Given the description of an element on the screen output the (x, y) to click on. 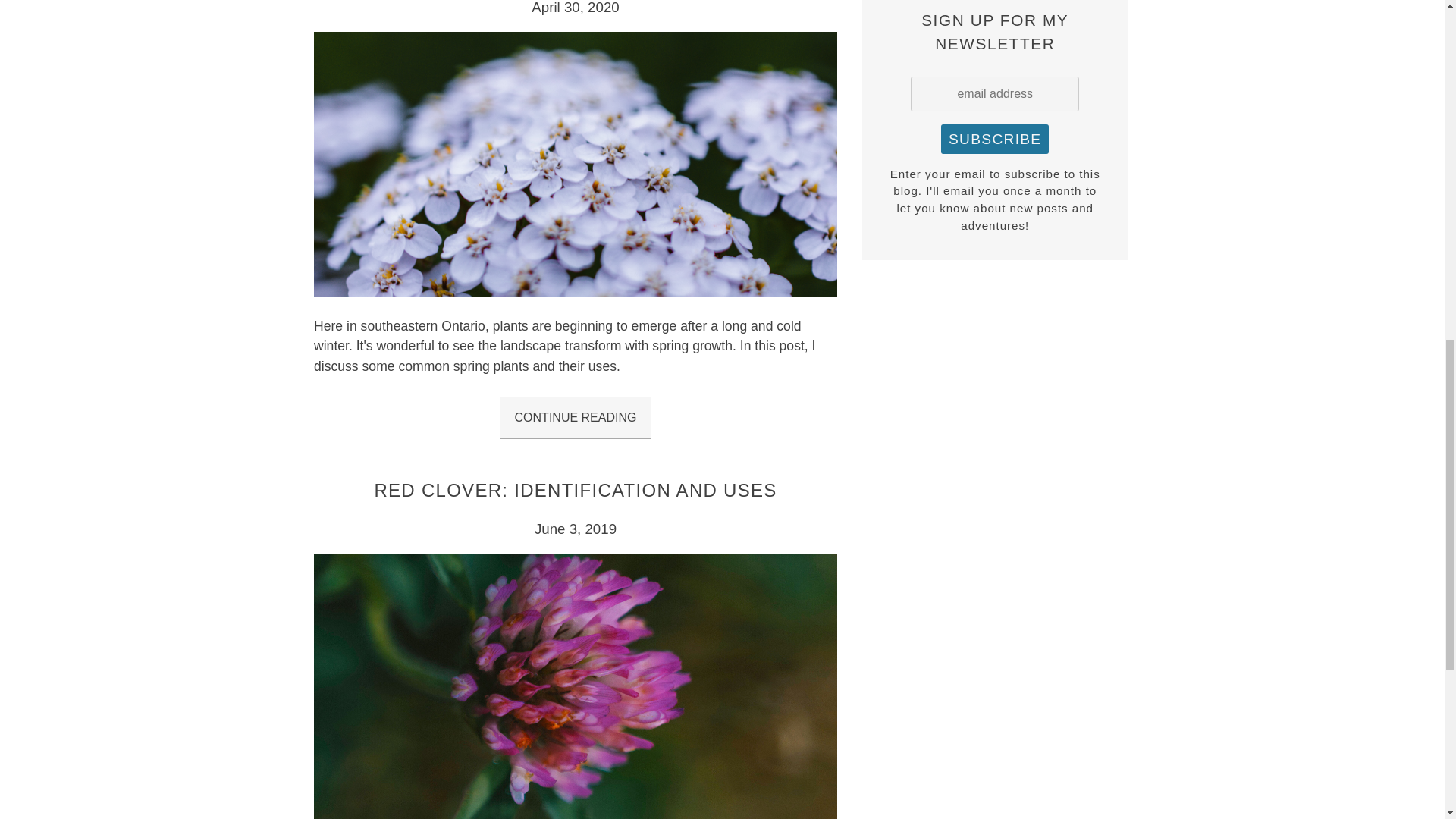
Subscribe (994, 138)
Subscribe (994, 138)
RED CLOVER: IDENTIFICATION AND USES (575, 489)
CONTINUE READING (574, 417)
